Given the description of an element on the screen output the (x, y) to click on. 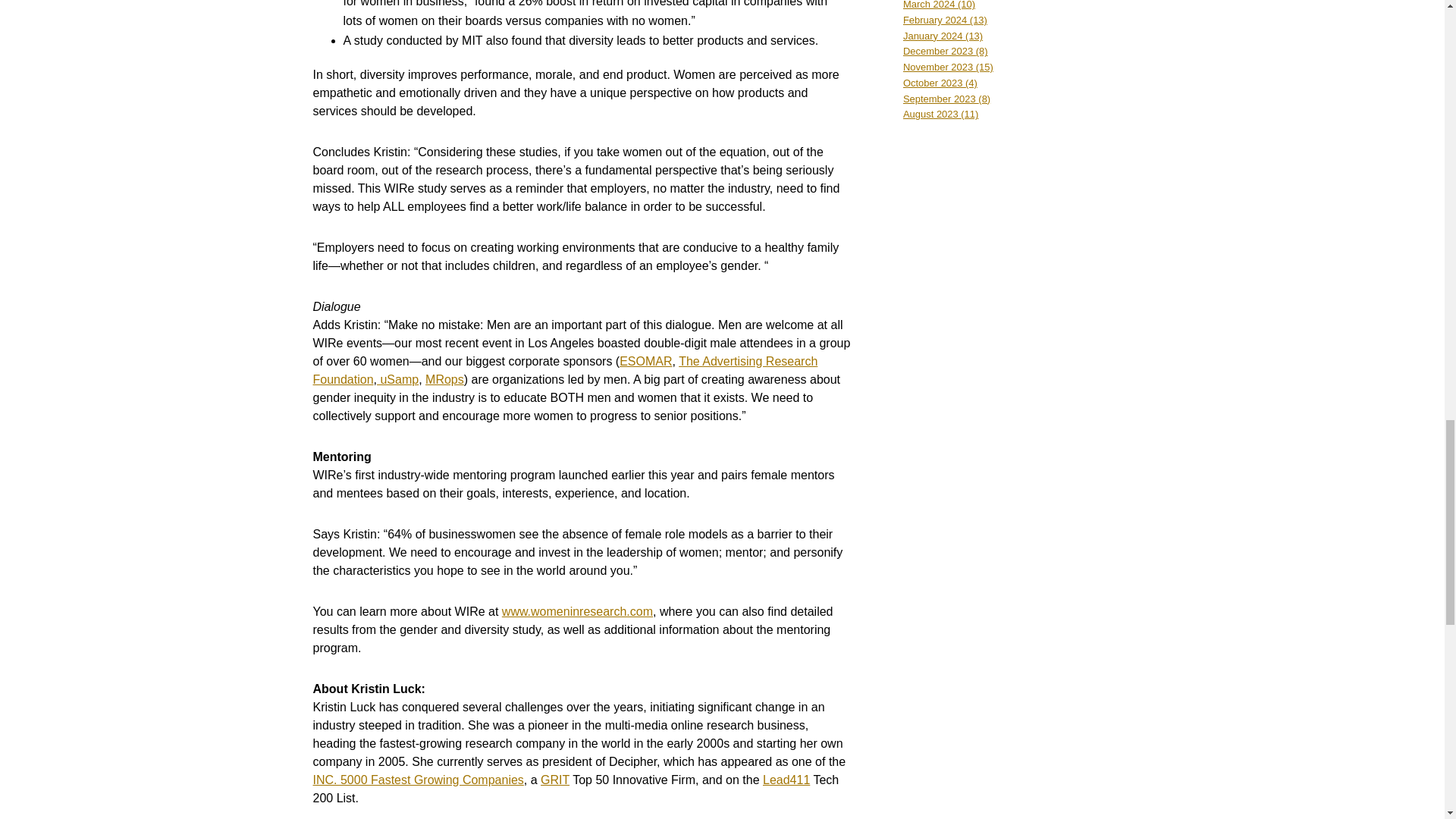
MRops (444, 379)
www.womeninresearch.com (577, 611)
Lead411 (785, 779)
ESOMAR (645, 360)
GRIT (554, 779)
uSamp (398, 379)
The Advertising Research Foundation (564, 369)
INC. 5000 Fastest Growing Companies (417, 779)
